Given the description of an element on the screen output the (x, y) to click on. 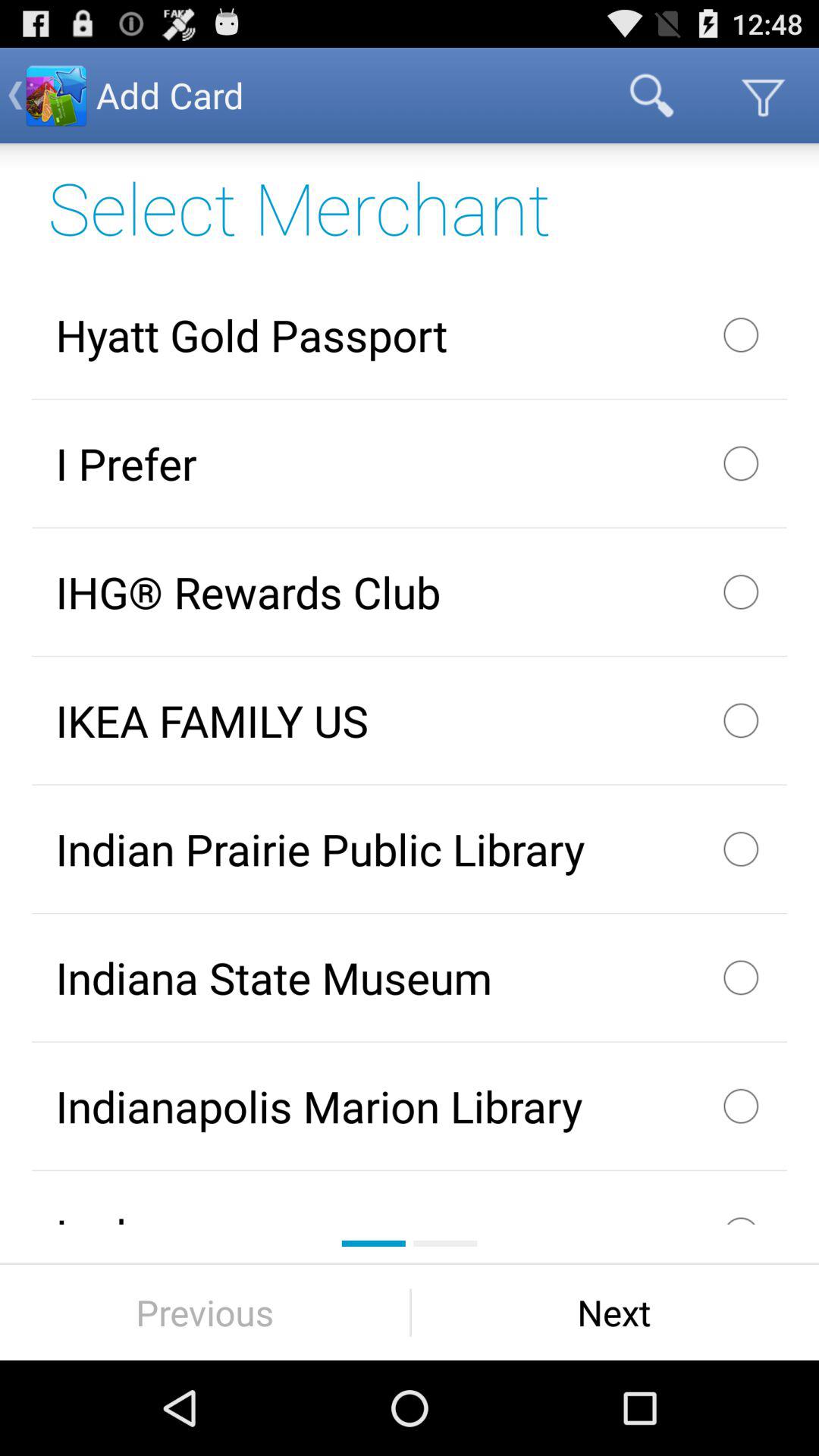
tap item below the ikea family us checkbox (409, 848)
